Given the description of an element on the screen output the (x, y) to click on. 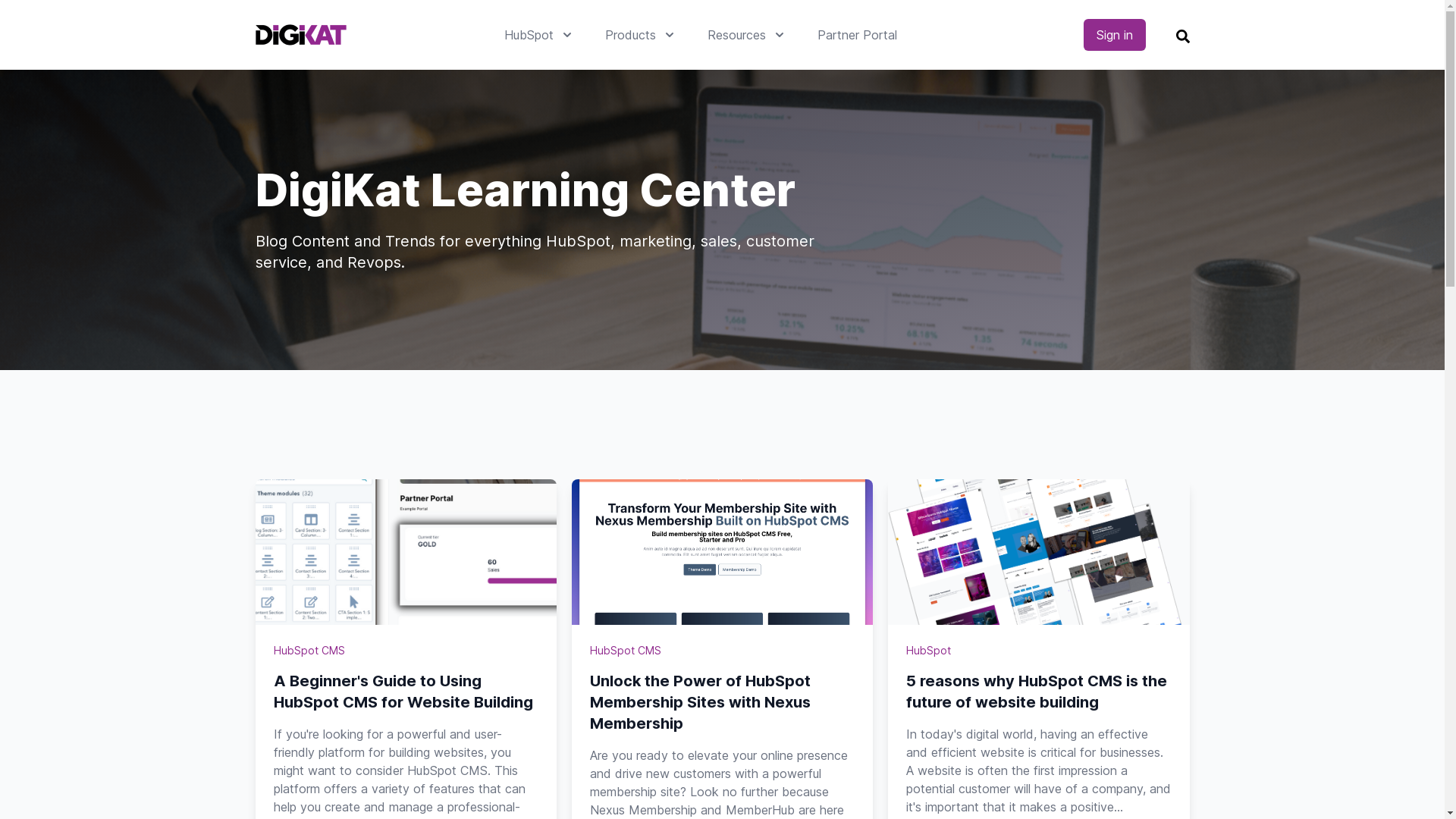
Sign in Element type: text (1113, 34)
A Beginner's Guide to Using HubSpot CMS for Website Building Element type: text (405, 691)
Partner Portal Element type: text (857, 34)
HubSpot Element type: text (928, 649)
Products Element type: text (641, 34)
Resources Element type: text (746, 34)
HubSpot CMS Element type: text (308, 649)
HubSpot Element type: text (538, 34)
HubSpot CMS Element type: text (625, 649)
DigiKat Marketing Element type: hover (299, 34)
5 reasons why HubSpot CMS is the future of website building Element type: text (1038, 691)
